Given the description of an element on the screen output the (x, y) to click on. 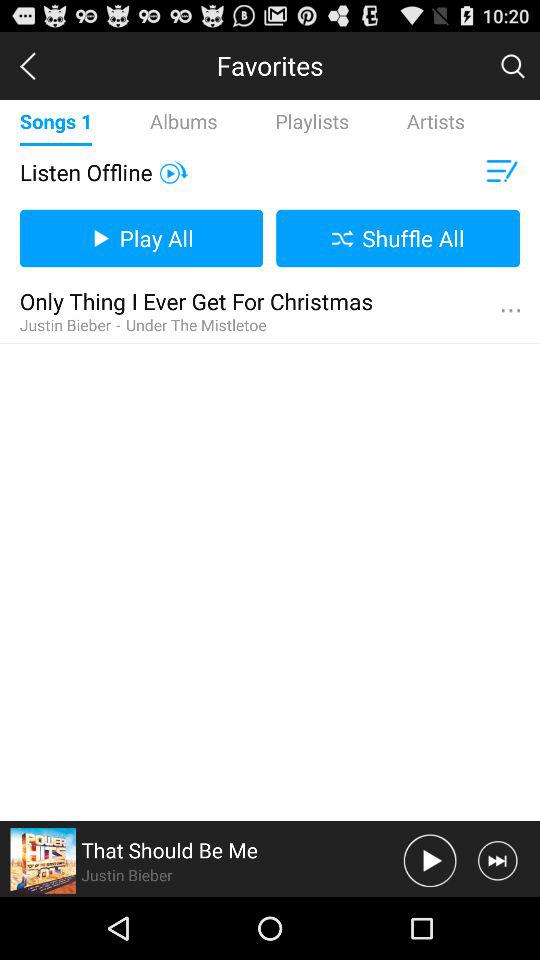
open menu (500, 172)
